Given the description of an element on the screen output the (x, y) to click on. 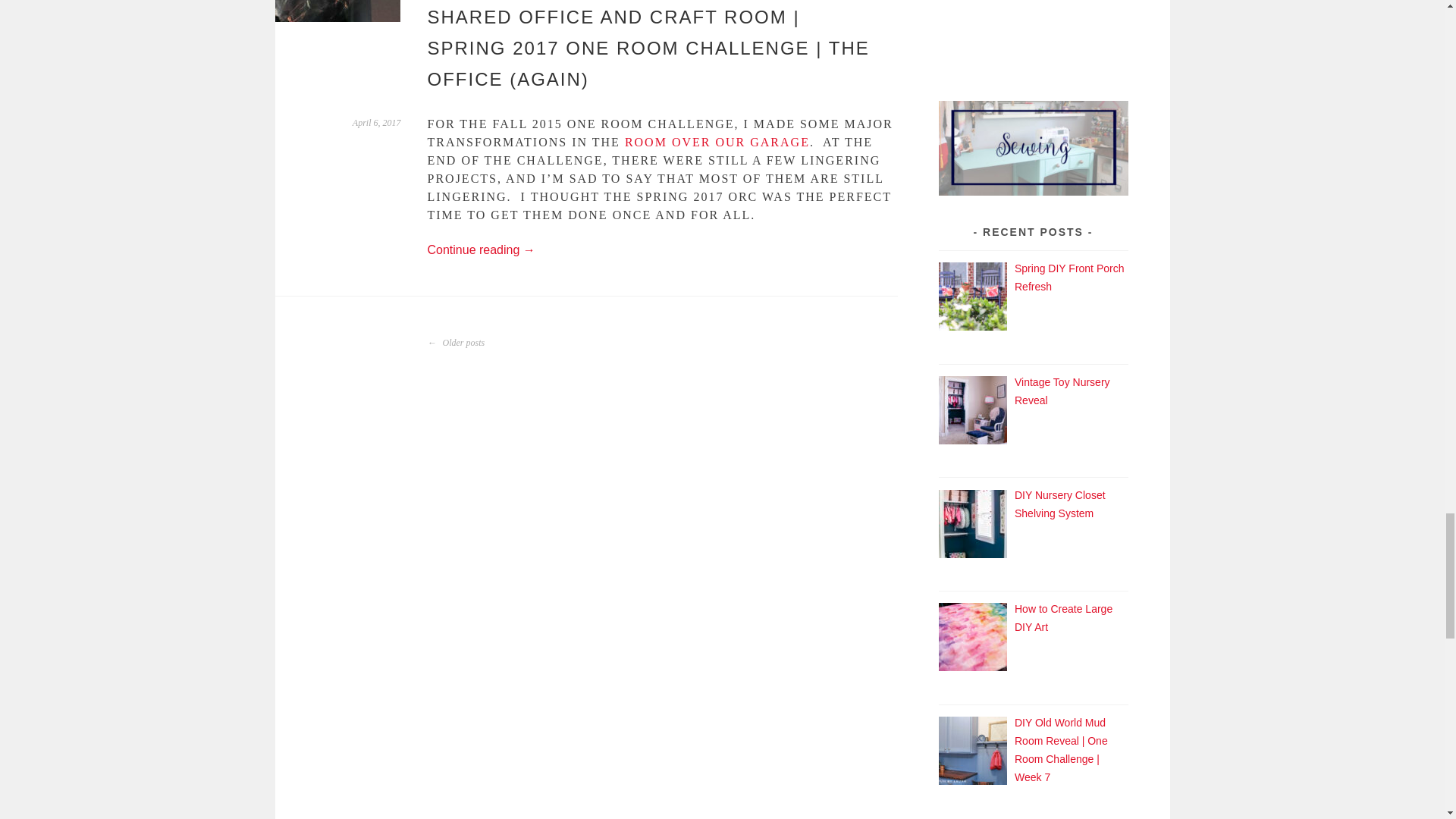
ROOM OVER OUR GARAGE (716, 141)
Advertisement (1033, 36)
Older posts (456, 342)
April 6, 2017 (376, 122)
